Given the description of an element on the screen output the (x, y) to click on. 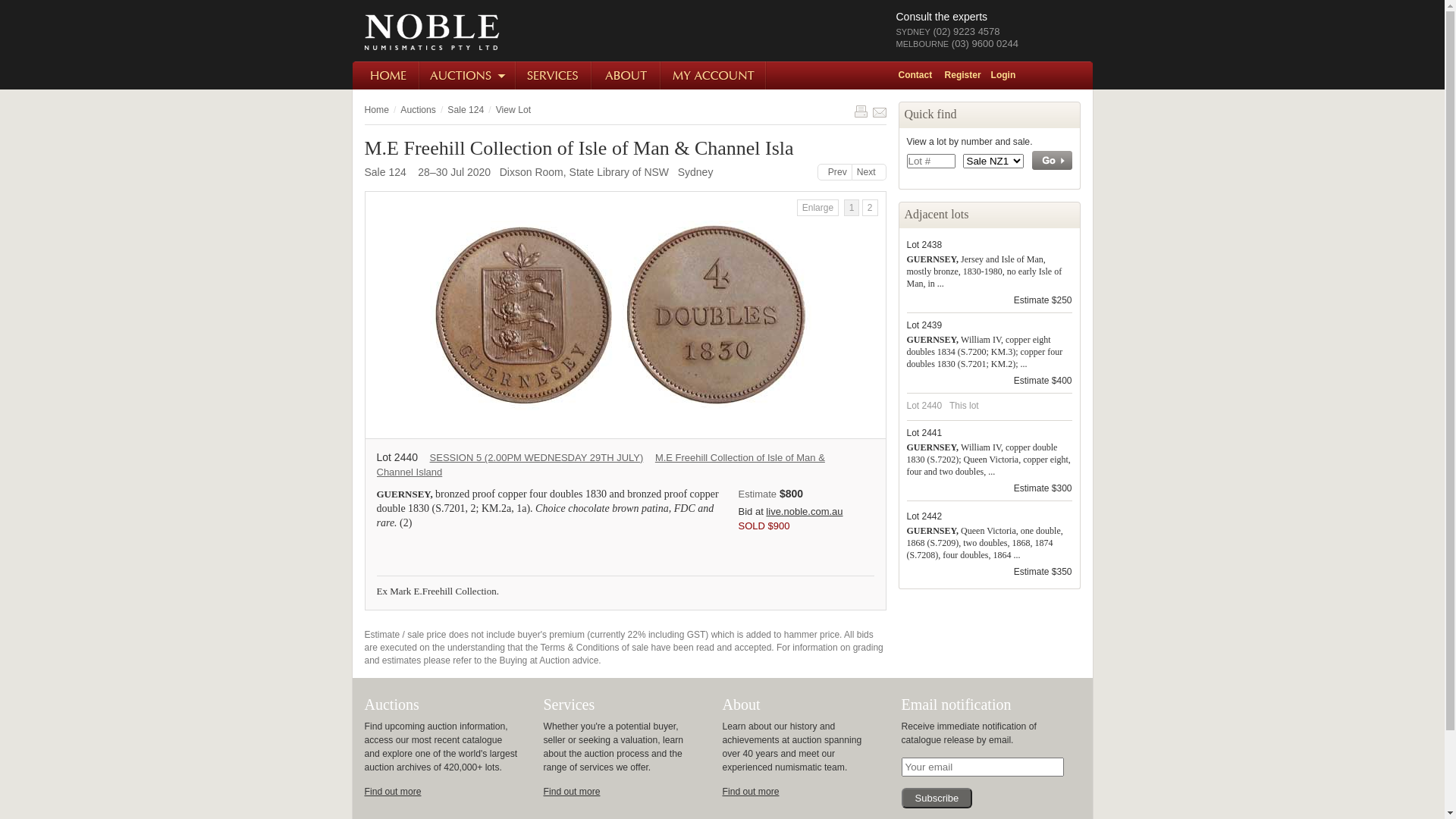
View Lot Element type: text (512, 109)
Auctions Element type: text (418, 109)
Find out more Element type: text (392, 791)
Find out more Element type: text (749, 791)
Sale 124 Element type: text (465, 109)
live.noble.com.au Element type: text (803, 511)
Contact Element type: text (919, 74)
2 Element type: text (870, 207)
Auctions Element type: text (468, 75)
Share Element type: text (878, 111)
Print Element type: text (860, 111)
Next   Element type: text (869, 171)
Services Element type: text (553, 75)
Login Element type: text (1008, 74)
About Element type: text (625, 75)
M.E Freehill Collection of Isle of Man & Channel Island Element type: text (600, 464)
SESSION 5 (2.00PM WEDNESDAY 29TH JULY) Element type: text (536, 457)
Home Element type: text (376, 109)
1 Element type: text (851, 207)
Find out more Element type: text (570, 791)
Enlarge Element type: text (817, 207)
Home Element type: text (385, 75)
Subscribe Element type: text (936, 797)
  Prev Element type: text (834, 171)
Register Element type: text (967, 74)
My Account Element type: text (713, 75)
